Given the description of an element on the screen output the (x, y) to click on. 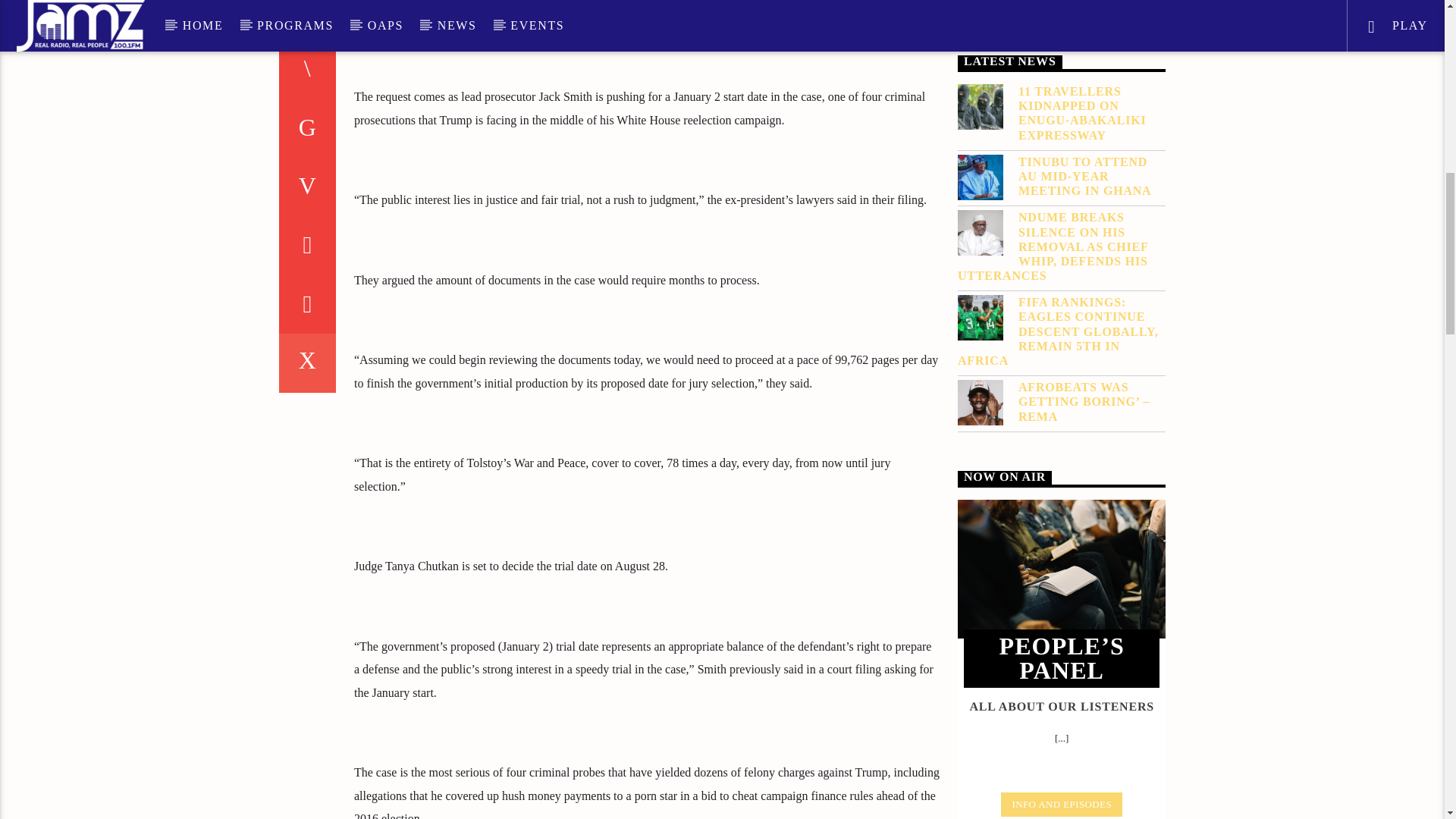
TINUBU TO ATTEND AU MID-YEAR MEETING IN GHANA (1062, 176)
11 TRAVELLERS KIDNAPPED ON ENUGU-ABAKALIKI EXPRESSWAY (1062, 113)
